Given the description of an element on the screen output the (x, y) to click on. 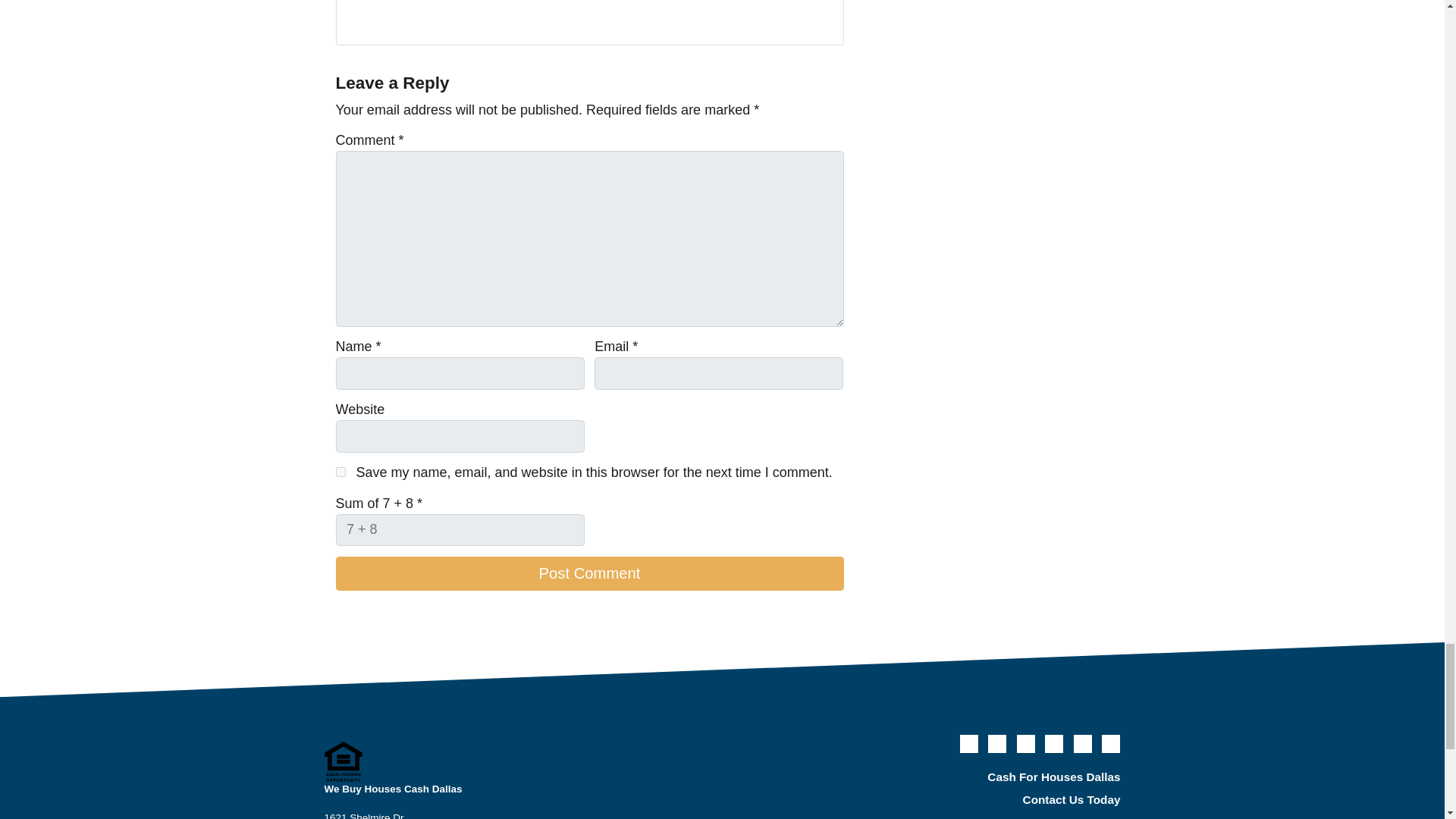
YouTube (404, 18)
Pinterest (468, 18)
LinkedIn (425, 18)
Post Comment (588, 573)
Twitter (362, 18)
yes (339, 471)
Post Comment (588, 573)
Facebook (383, 18)
Instagram (447, 18)
